Given the description of an element on the screen output the (x, y) to click on. 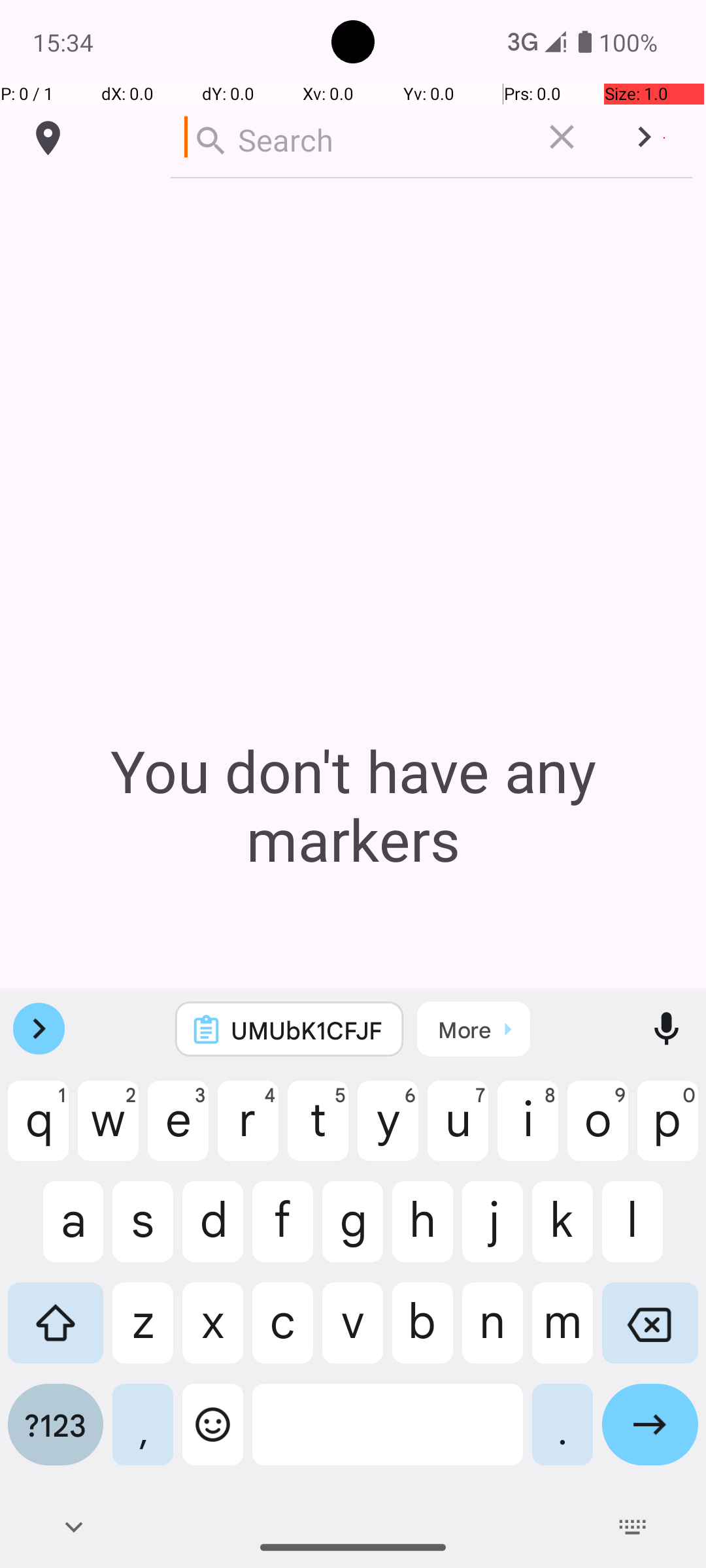
You don't have any markers Element type: android.widget.TextView (353, 805)
   Search Element type: android.widget.AutoCompleteTextView (348, 136)
Clear query Element type: android.widget.ImageView (561, 136)
Submit query Element type: android.widget.ImageView (644, 136)
Go Element type: android.widget.FrameLayout (649, 1434)
